Given the description of an element on the screen output the (x, y) to click on. 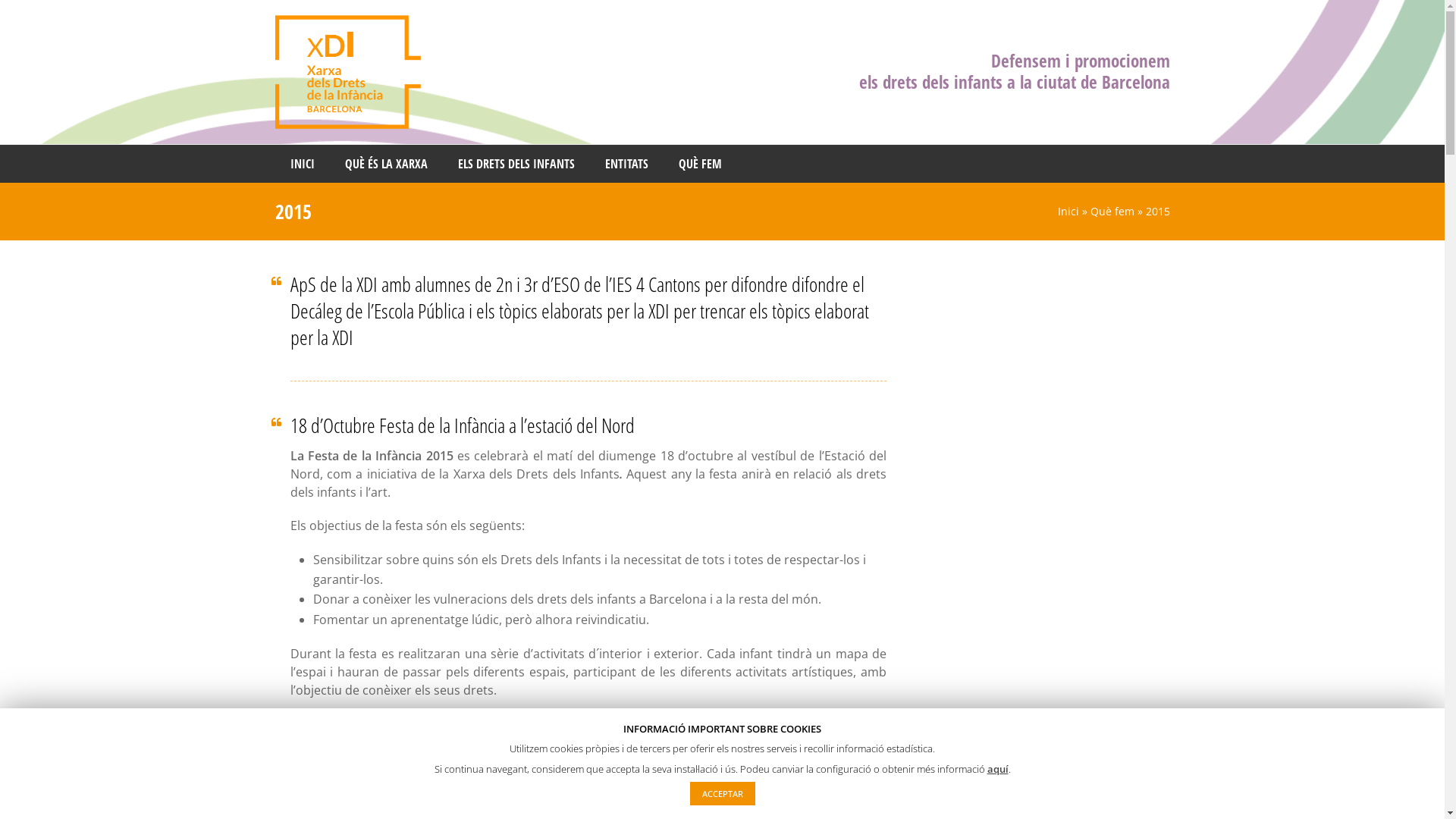
ELS DRETS DELS INFANTS Element type: text (515, 163)
Inici Element type: text (1067, 210)
ACCEPTAR Element type: text (722, 793)
INICI Element type: text (301, 163)
ENTITATS Element type: text (626, 163)
